Given the description of an element on the screen output the (x, y) to click on. 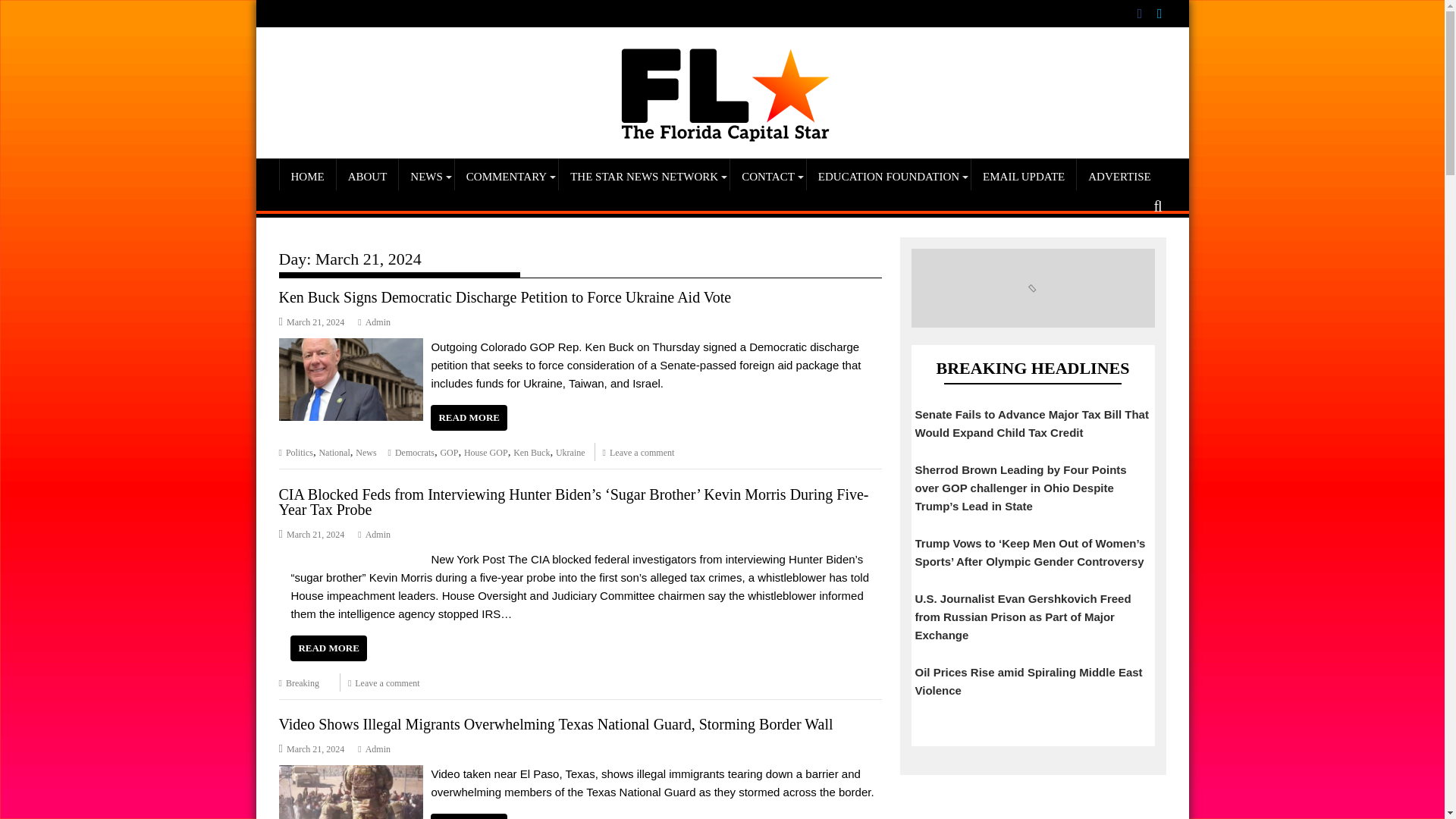
THE STAR NEWS NETWORK (644, 176)
EDUCATION FOUNDATION (888, 176)
EMAIL UPDATE (1023, 176)
COMMENTARY (505, 176)
HOME (306, 176)
ADVERTISE (1119, 176)
CONTACT (768, 176)
NEWS (426, 176)
ABOUT (367, 176)
